Given the description of an element on the screen output the (x, y) to click on. 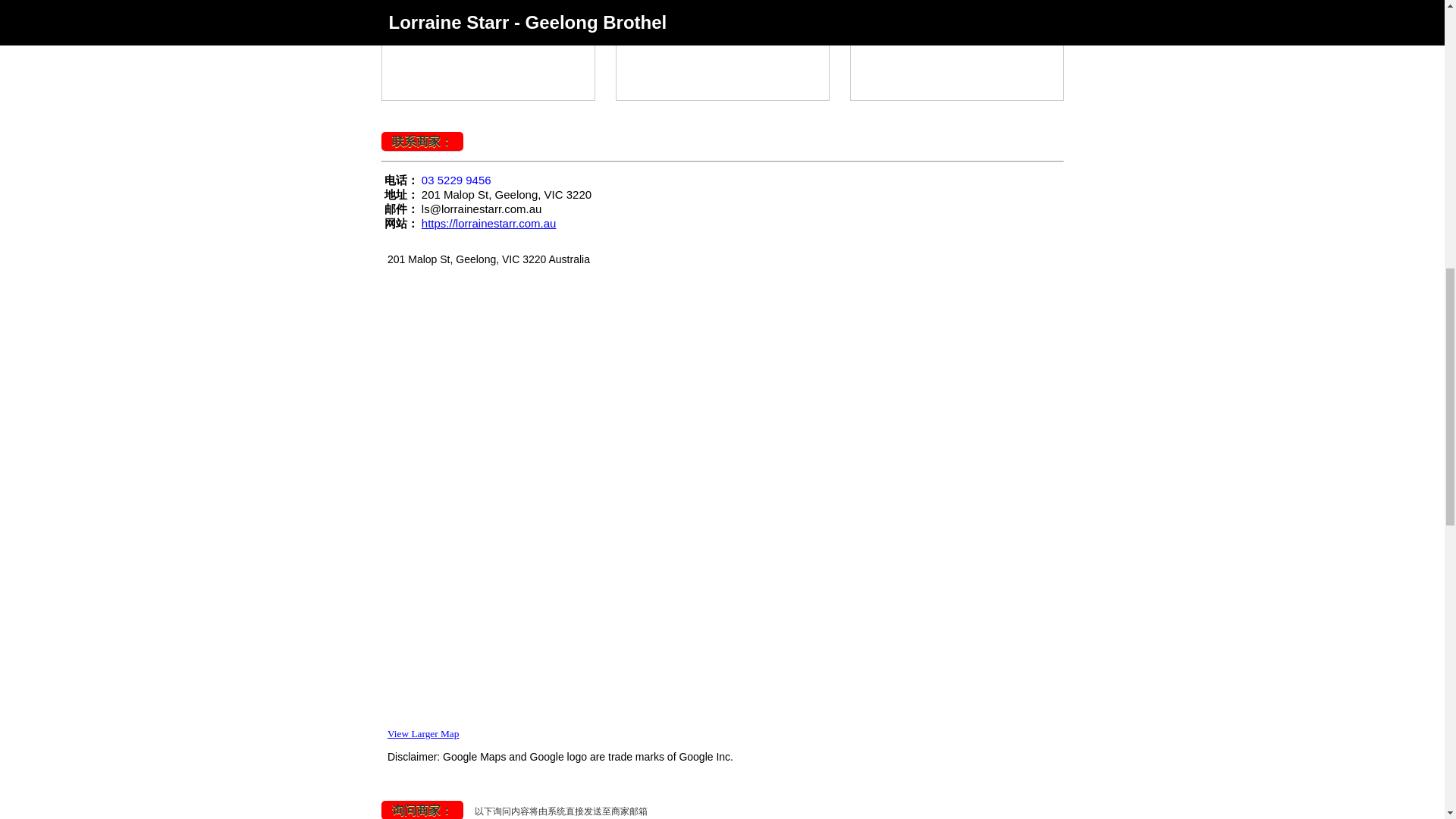
03 5229 9456 (457, 179)
